Given the description of an element on the screen output the (x, y) to click on. 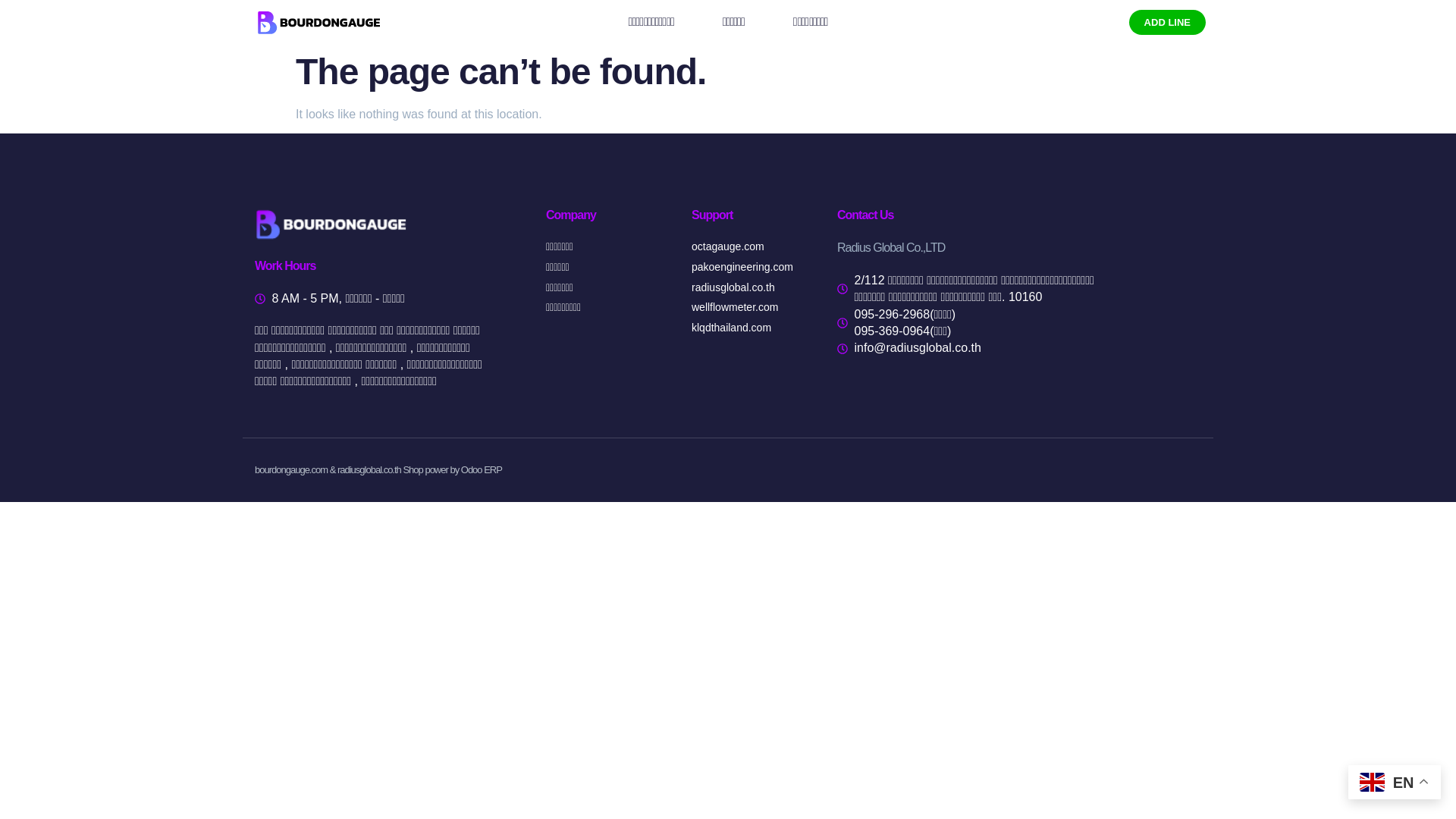
pakoengineering.com (751, 267)
radiusglobal.co.th (751, 287)
klqdthailand.com (751, 328)
ADD LINE (1167, 21)
octagauge.com (751, 246)
wellflowmeter.com (751, 307)
